Given the description of an element on the screen output the (x, y) to click on. 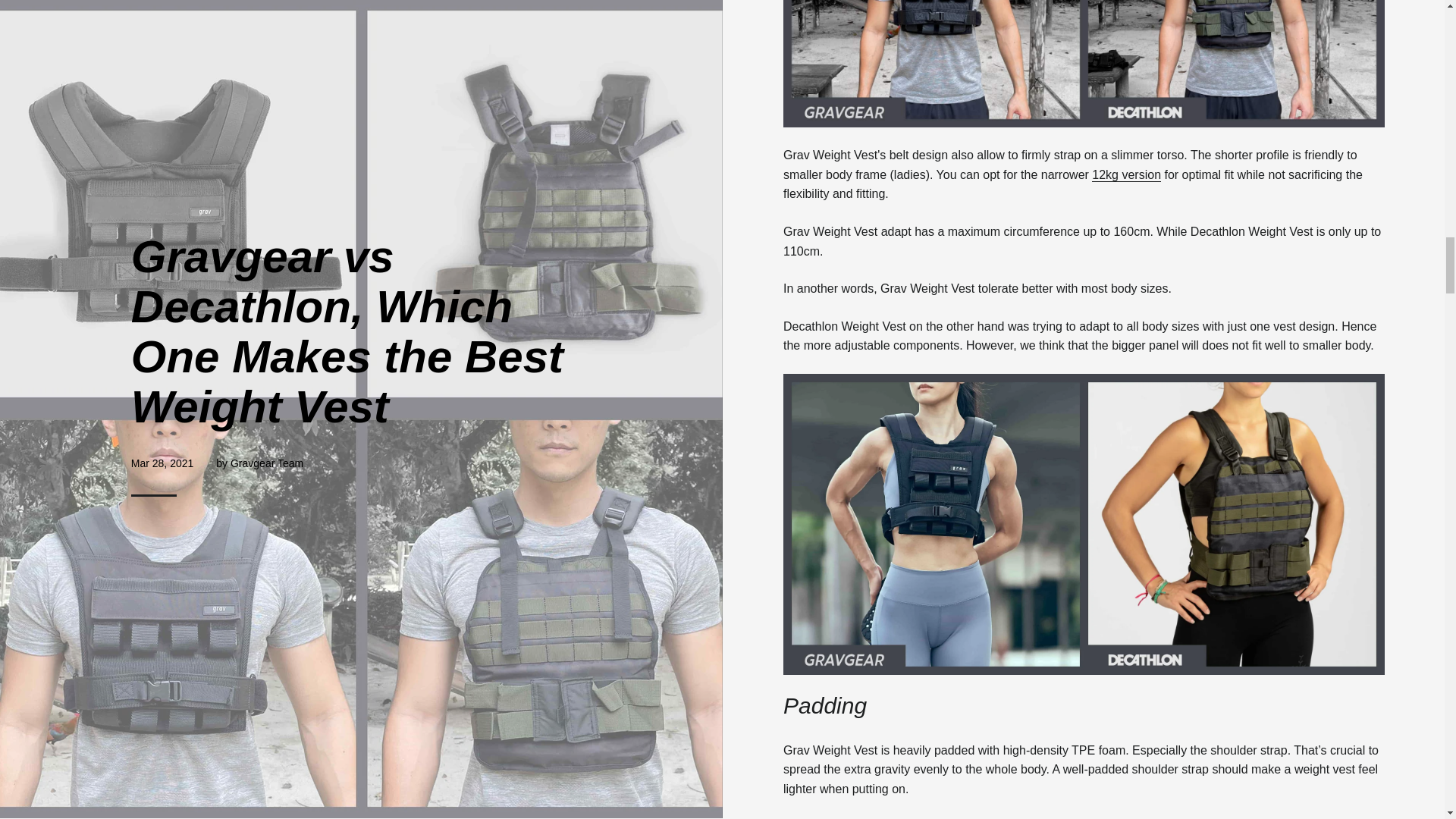
12kg version (1126, 174)
